Given the description of an element on the screen output the (x, y) to click on. 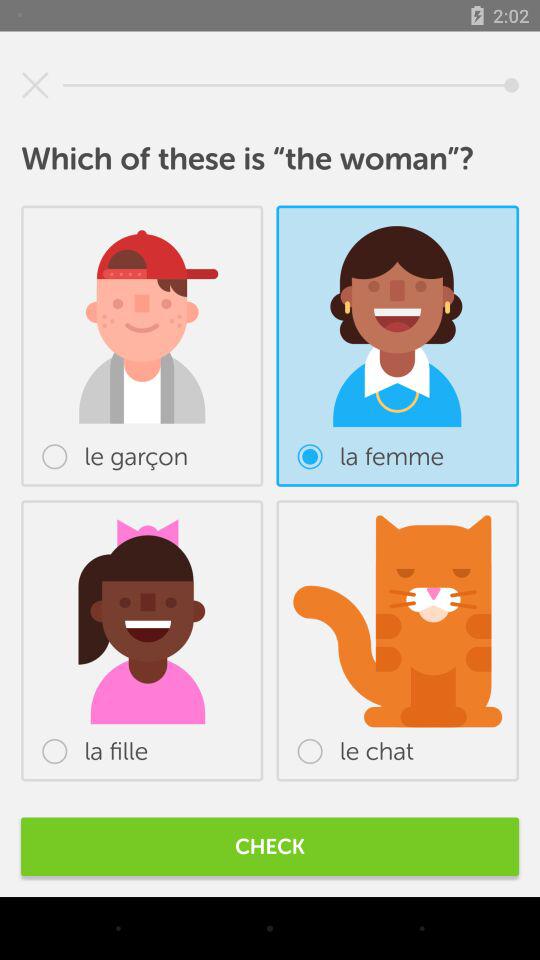
click check (270, 846)
